Given the description of an element on the screen output the (x, y) to click on. 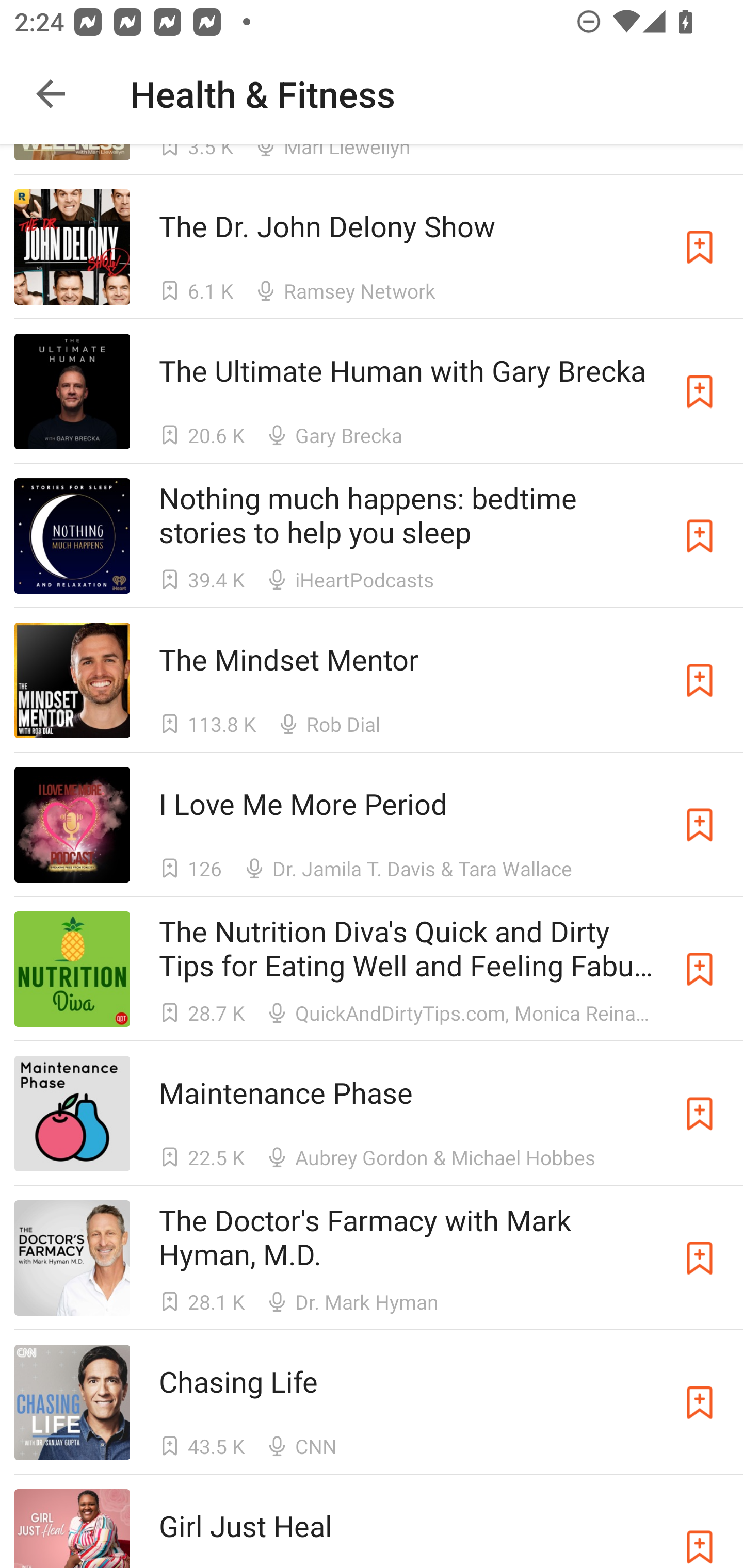
Navigate up (50, 93)
Subscribe (699, 246)
Subscribe (699, 391)
Subscribe (699, 536)
Subscribe (699, 680)
Subscribe (699, 824)
Subscribe (699, 969)
Subscribe (699, 1113)
Subscribe (699, 1257)
Chasing Life Chasing Life  43.5 K  CNN Subscribe (371, 1401)
Subscribe (699, 1402)
Girl Just Heal Girl Just Heal Subscribe (371, 1520)
Subscribe (699, 1528)
